Given the description of an element on the screen output the (x, y) to click on. 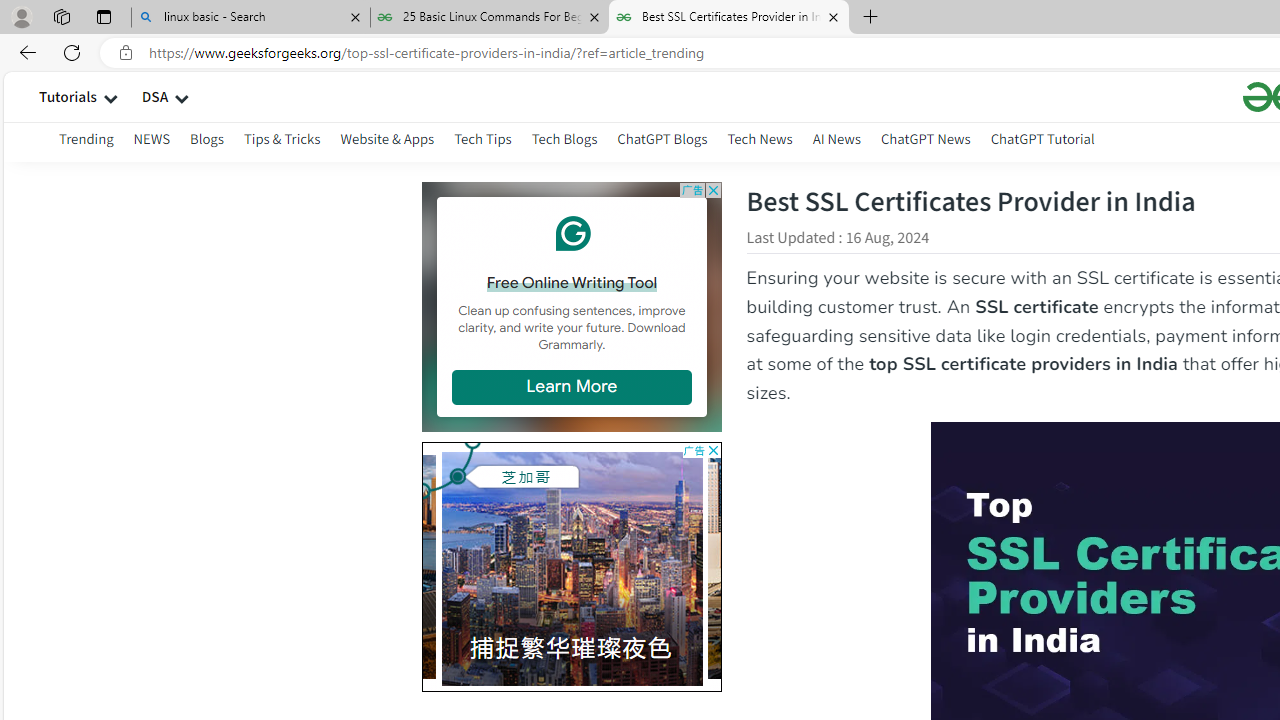
AutomationID: brandLogo (571, 566)
Blogs (207, 138)
Tech News (759, 138)
Tips & Tricks (281, 142)
Class: ns-0w9yu-e-5 (571, 233)
AutomationID: bg3 (571, 564)
DSA (154, 96)
ChatGPT News (925, 138)
Tutorials (67, 96)
AutomationID: gradient2 (303, 561)
NEWS (151, 138)
